Given the description of an element on the screen output the (x, y) to click on. 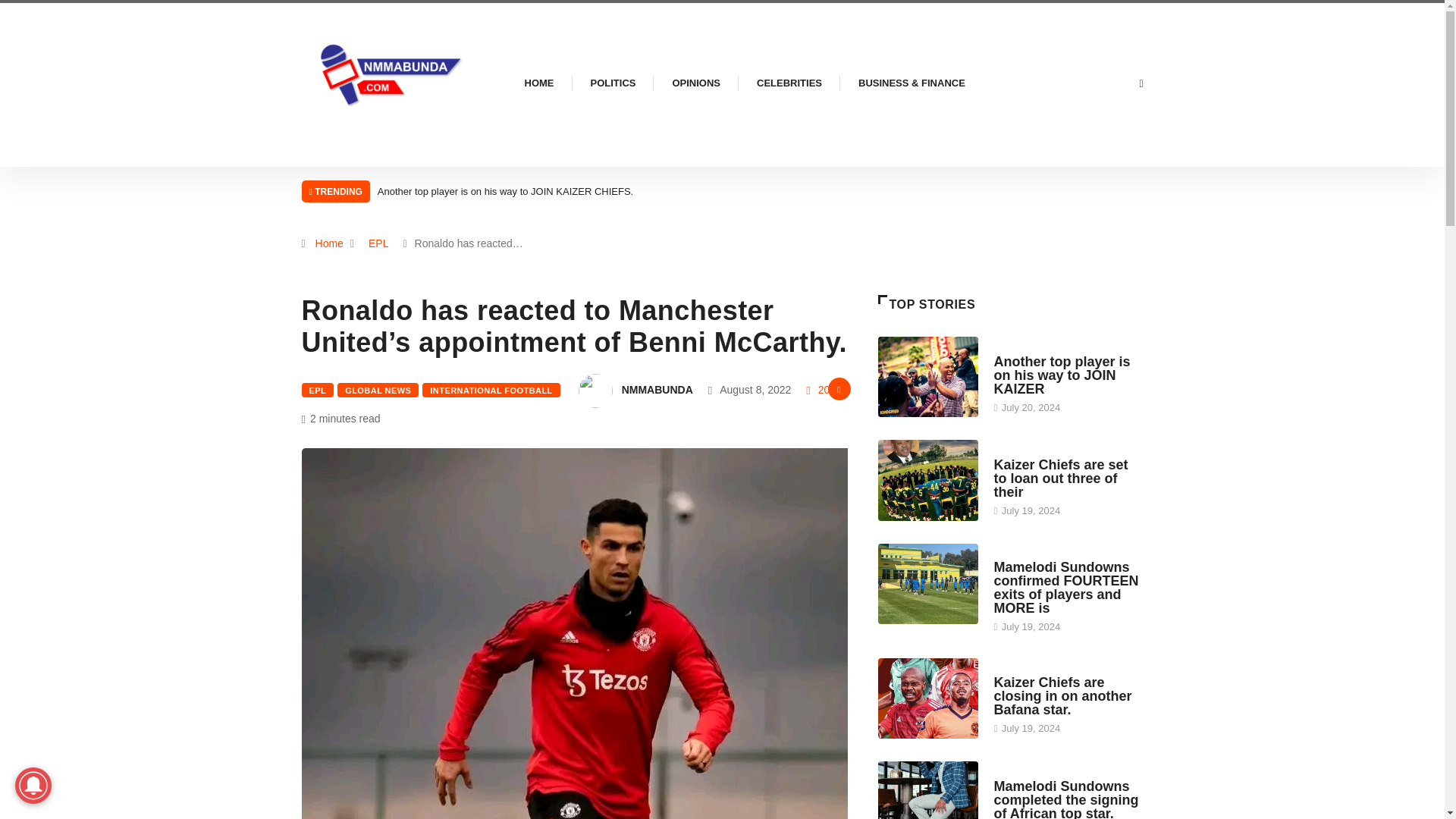
EPL (377, 243)
CELEBRITIES (789, 83)
Another top player is on his way to JOIN KAIZER CHIEFS. (927, 376)
Another top player is on his way to JOIN KAIZER CHIEFS. (505, 191)
Home (329, 243)
GLOBAL NEWS (378, 390)
NMMABUNDA (657, 389)
EPL (317, 390)
INTERNATIONAL FOOTBALL (490, 390)
